Given the description of an element on the screen output the (x, y) to click on. 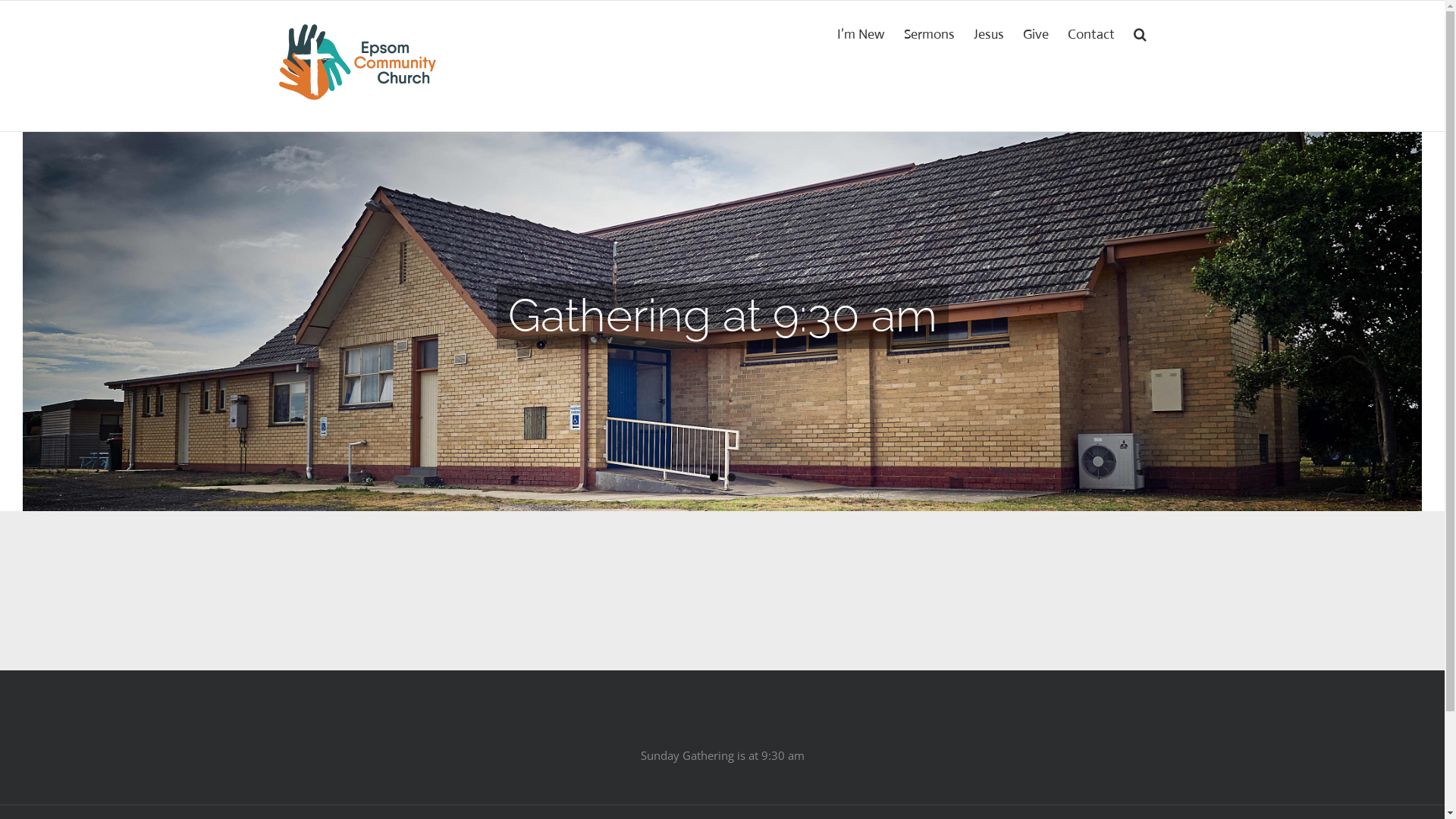
Contact Element type: text (1090, 32)
1 Element type: text (713, 477)
Jesus Element type: text (988, 32)
Search Element type: hover (1139, 32)
Sermons Element type: text (928, 32)
2 Element type: text (730, 477)
Give Element type: text (1035, 32)
